Given the description of an element on the screen output the (x, y) to click on. 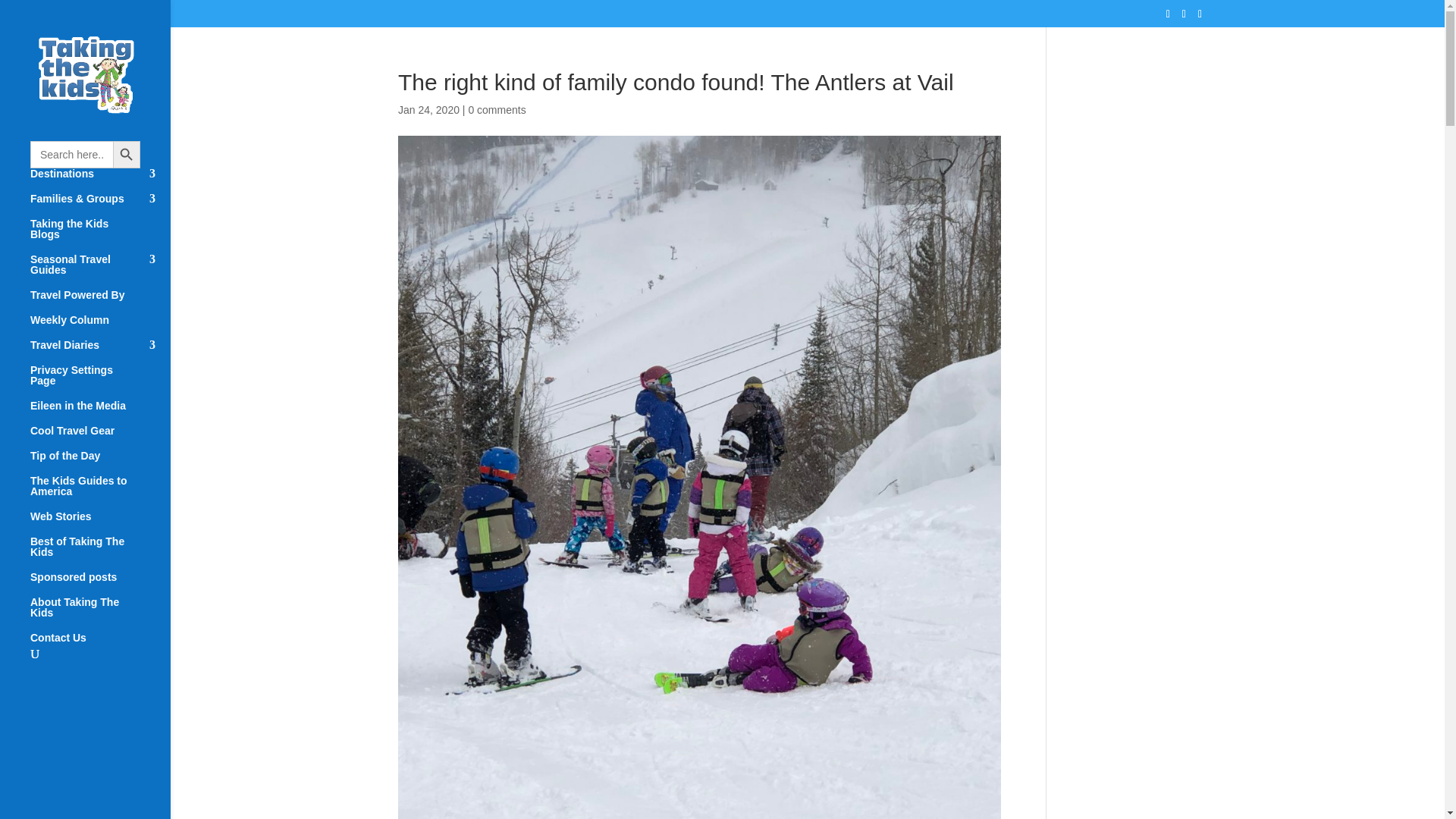
Web Stories (100, 523)
Travel Diaries (100, 351)
Tip of the Day (100, 462)
The Kids Guides to America (100, 493)
Search Button (126, 154)
Privacy Settings Page (100, 382)
Travel Powered By (100, 301)
Taking the Kids Blogs (100, 235)
Eileen in the Media (100, 412)
Weekly Column (100, 326)
